Given the description of an element on the screen output the (x, y) to click on. 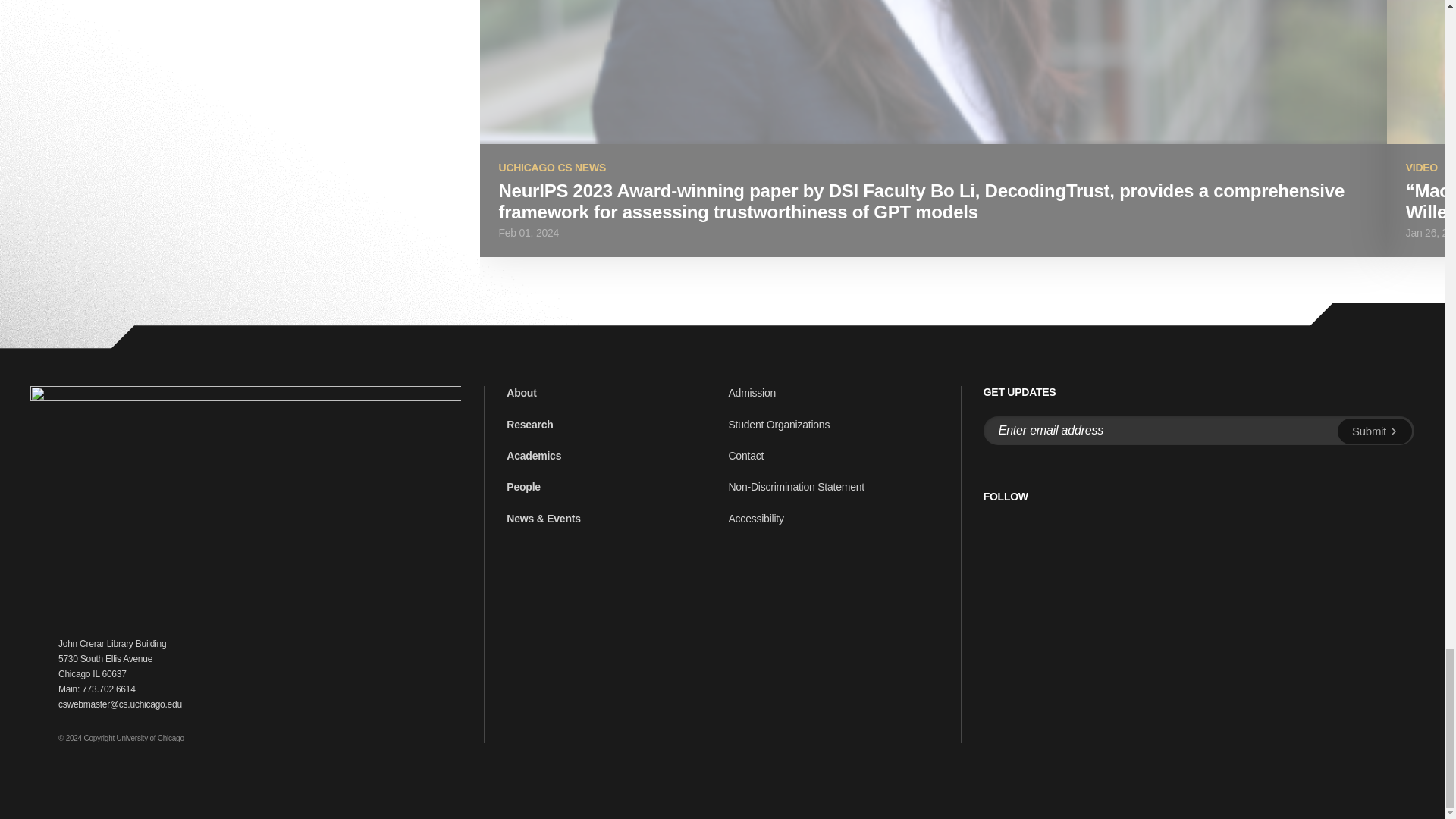
youtube (1058, 527)
twitter (990, 527)
linkedin (1024, 527)
